Given the description of an element on the screen output the (x, y) to click on. 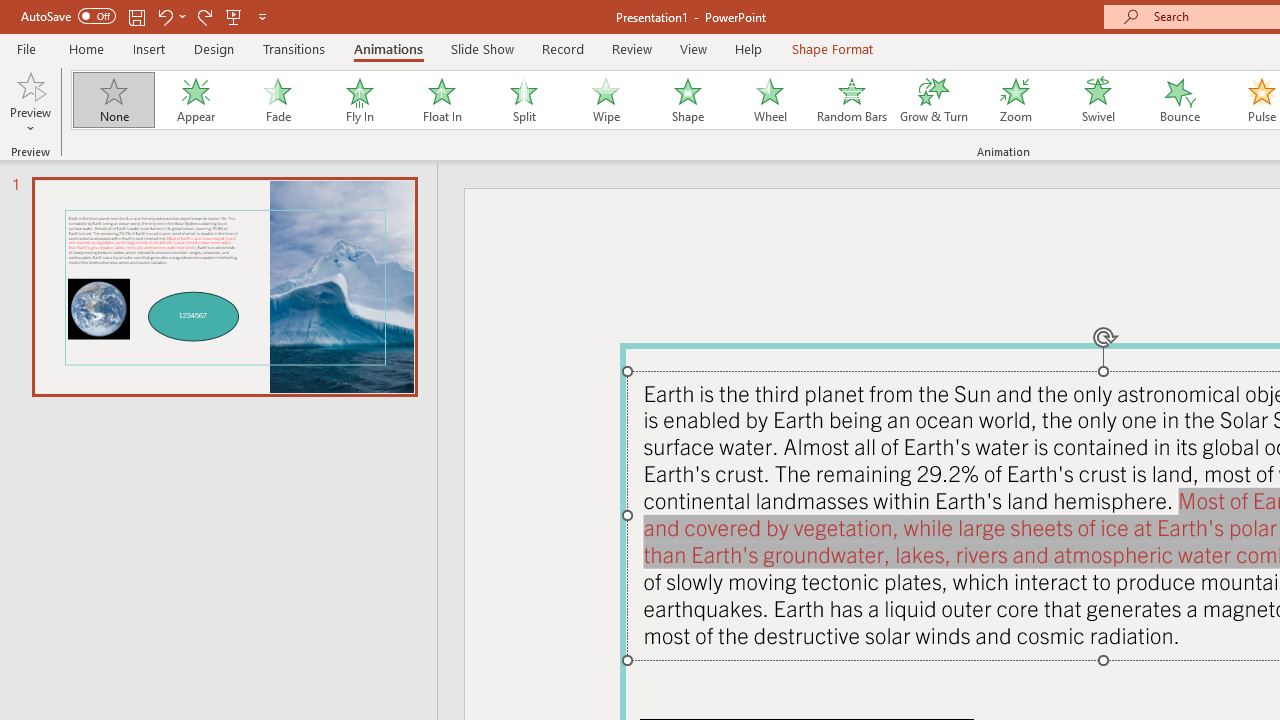
Float In (441, 100)
Wheel (770, 100)
Grow & Turn (934, 100)
Bounce (1180, 100)
